Given the description of an element on the screen output the (x, y) to click on. 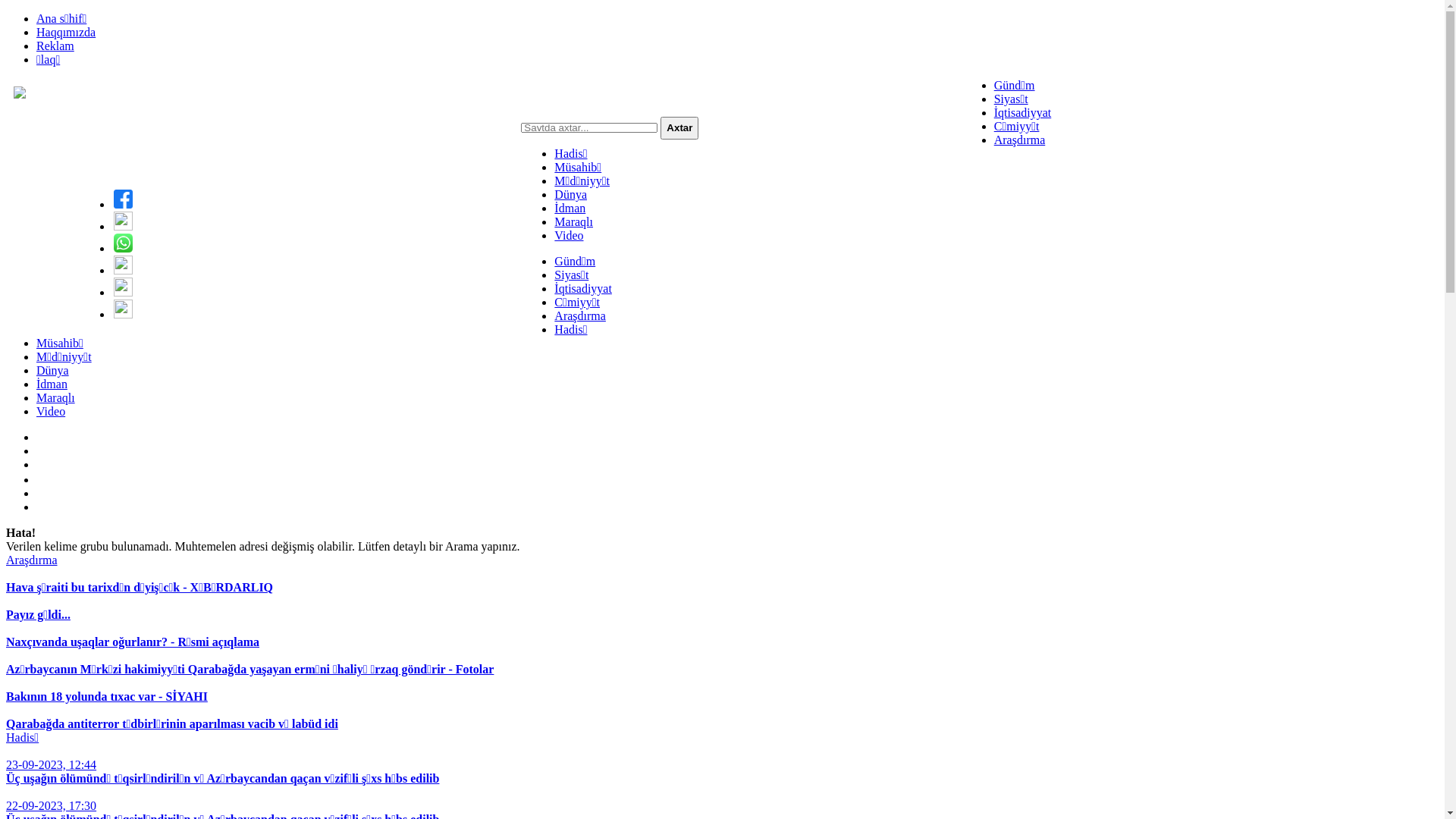
Video Element type: text (568, 235)
Video Element type: text (50, 410)
Axtar Element type: text (679, 127)
Reklam Element type: text (55, 45)
